Given the description of an element on the screen output the (x, y) to click on. 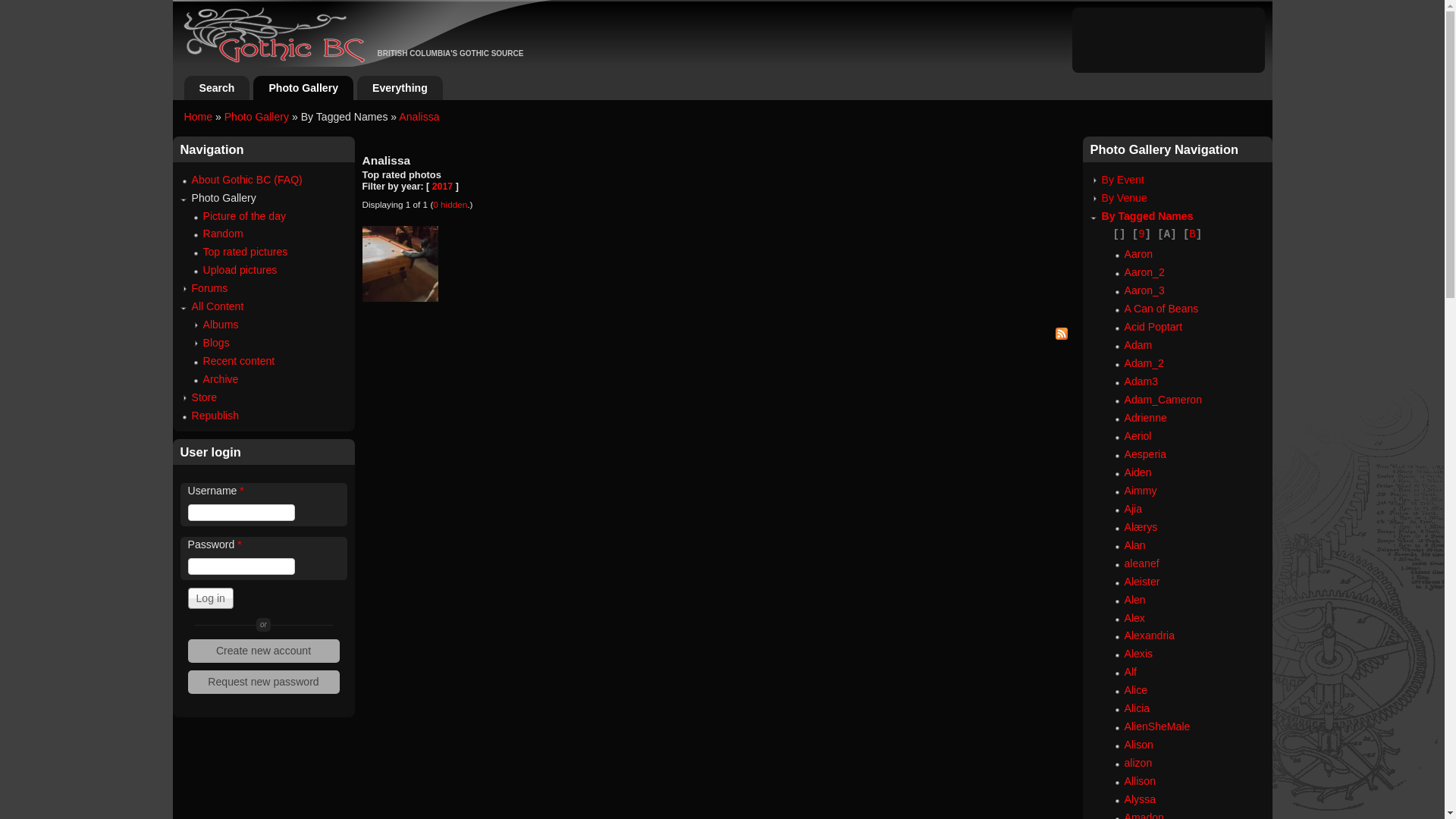
Upload pictures Element type: text (240, 269)
Alyssa Element type: text (1138, 799)
alizon Element type: text (1137, 762)
About Gothic BC (FAQ) Element type: text (246, 179)
Photo Gallery Element type: text (223, 197)
0 hidden Element type: text (450, 204)
B Element type: text (1192, 234)
Top rated pictures Element type: text (245, 251)
Alen Element type: text (1134, 599)
9 Element type: text (1141, 234)
Aaron_2 Element type: text (1143, 272)
Aeriol Element type: text (1137, 435)
Search Element type: text (216, 87)
AlienSheMale Element type: text (1156, 726)
Aleister Element type: text (1141, 581)
By Venue Element type: text (1123, 197)
Adam Element type: text (1137, 344)
Aaron Element type: text (1137, 253)
Advertisement Element type: hover (1168, 37)
Request new password Element type: text (263, 681)
Aiden Element type: text (1137, 472)
Random Element type: text (223, 233)
Skip to main content Element type: text (706, 0)
Ajia Element type: text (1132, 508)
Allison Element type: text (1138, 781)
Recent content Element type: text (239, 360)
Alicia Element type: text (1136, 708)
aleanef Element type: text (1140, 563)
Acid Poptart Element type: text (1152, 326)
Alexandria Element type: text (1148, 635)
Subscribe to "Photo Gallery" Element type: hover (718, 335)
Albums Element type: text (220, 324)
Log in Element type: text (210, 597)
Alex Element type: text (1133, 617)
Aaron_3 Element type: text (1143, 290)
Create new account Element type: text (263, 650)
2017 Element type: text (442, 186)
OYAKXX Element type: hover (400, 263)
Adam3 Element type: text (1140, 381)
Adam_2 Element type: text (1143, 363)
Alison Element type: text (1137, 744)
Photo Gallery Element type: text (302, 87)
Forums Element type: text (209, 288)
Photo Gallery Element type: text (256, 116)
Alan Element type: text (1134, 545)
By Event Element type: text (1122, 179)
Aimmy Element type: text (1139, 490)
Adam_Cameron Element type: text (1162, 399)
Adrienne Element type: text (1144, 417)
Home Element type: text (197, 116)
Alexis Element type: text (1137, 653)
Aesperia Element type: text (1144, 454)
Alf Element type: text (1129, 671)
All Content Element type: text (217, 306)
Archive Element type: text (220, 379)
By Tagged Names Element type: text (1146, 216)
Everything Element type: text (399, 87)
A Can of Beans Element type: text (1160, 308)
Store Element type: text (203, 397)
Blogs Element type: text (216, 342)
Picture of the day Element type: text (244, 216)
Analissa Element type: text (418, 116)
Republish Element type: text (214, 415)
Alice Element type: text (1135, 690)
